Given the description of an element on the screen output the (x, y) to click on. 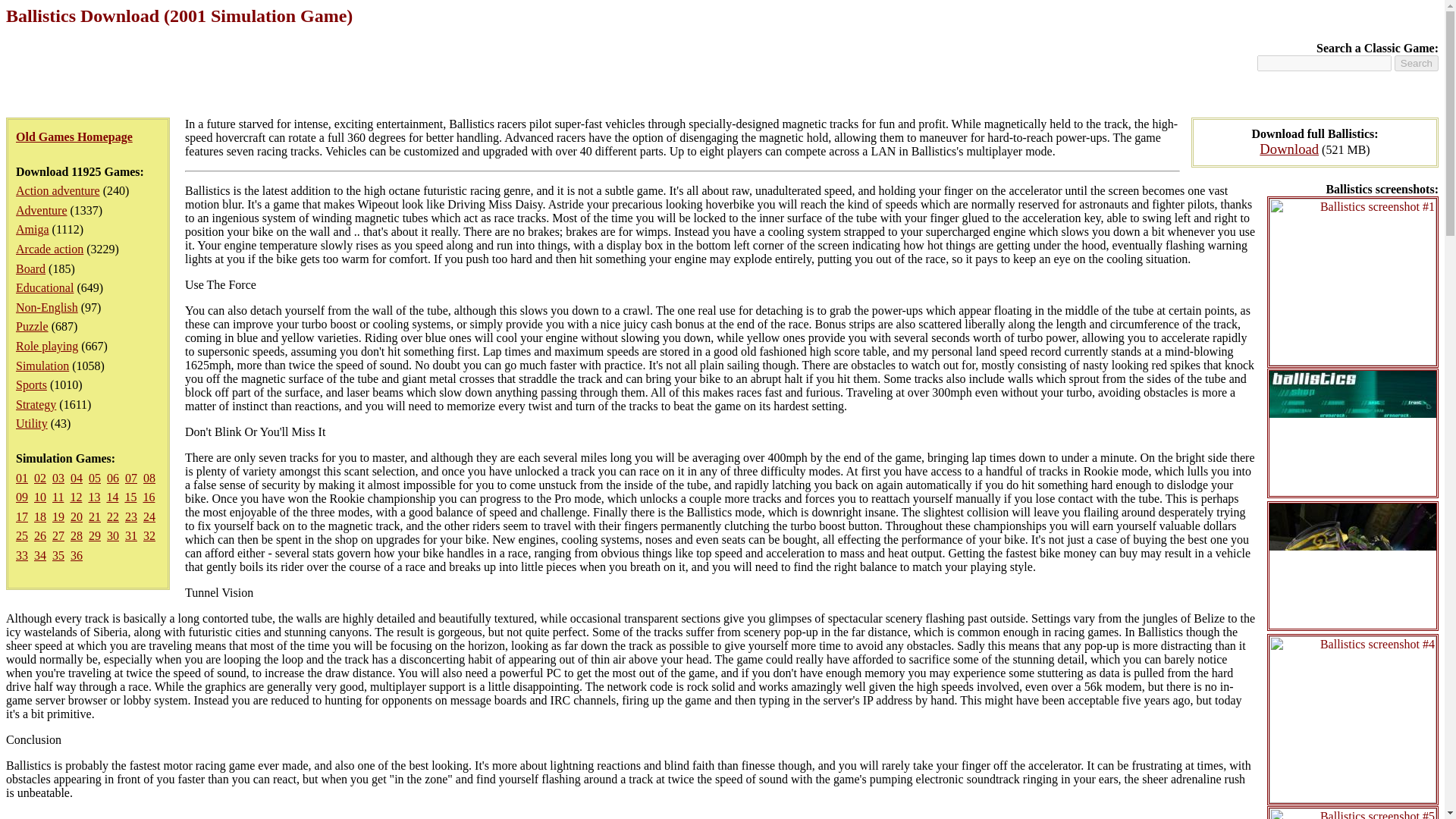
19 (58, 516)
Sports (31, 384)
23 (130, 516)
Search (1416, 63)
20 (75, 516)
Arcade action (49, 248)
Role playing (47, 345)
08 (148, 477)
16 (148, 496)
Strategy (36, 404)
